Given the description of an element on the screen output the (x, y) to click on. 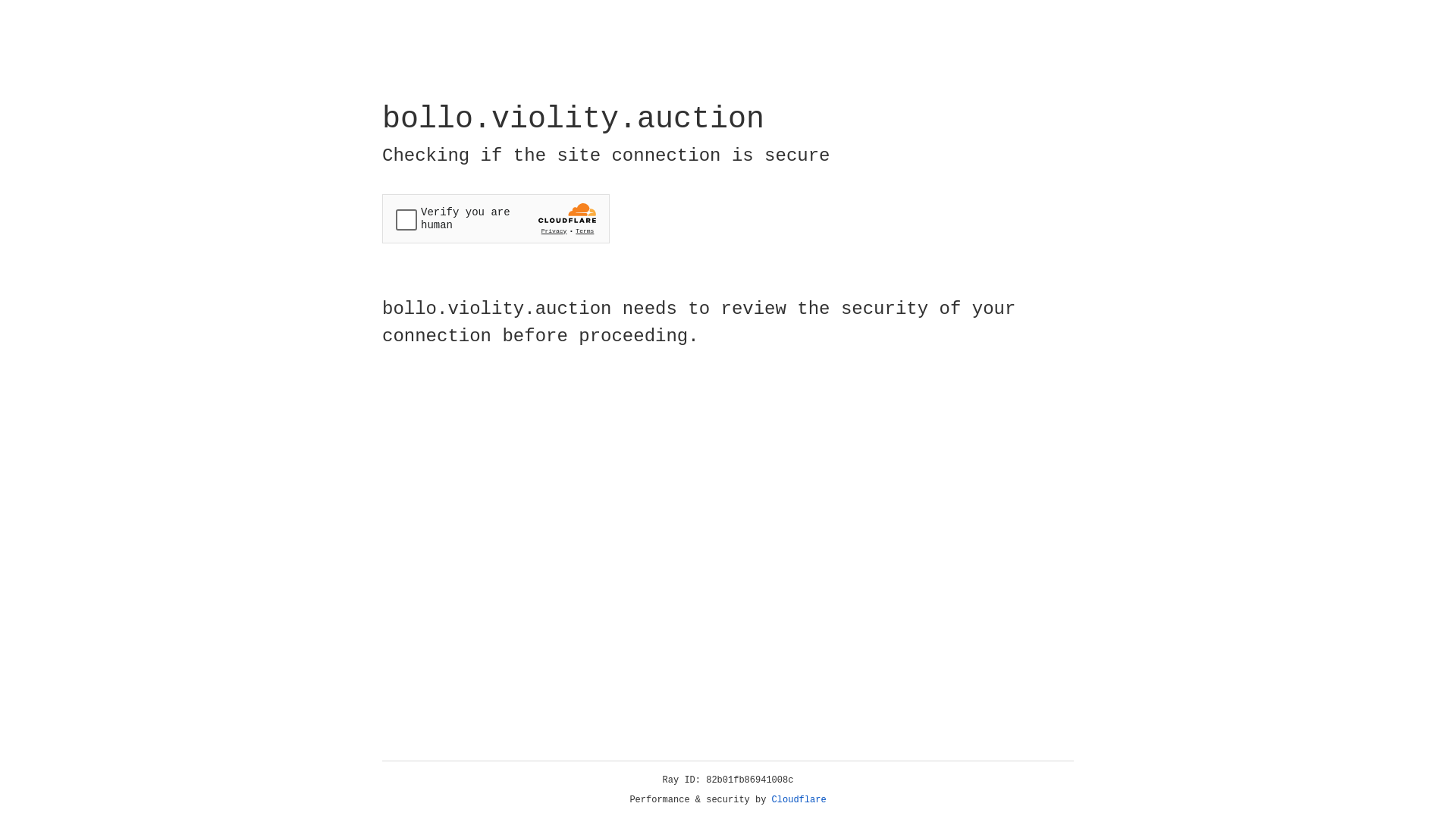
Cloudflare Element type: text (798, 799)
Widget containing a Cloudflare security challenge Element type: hover (495, 218)
